Given the description of an element on the screen output the (x, y) to click on. 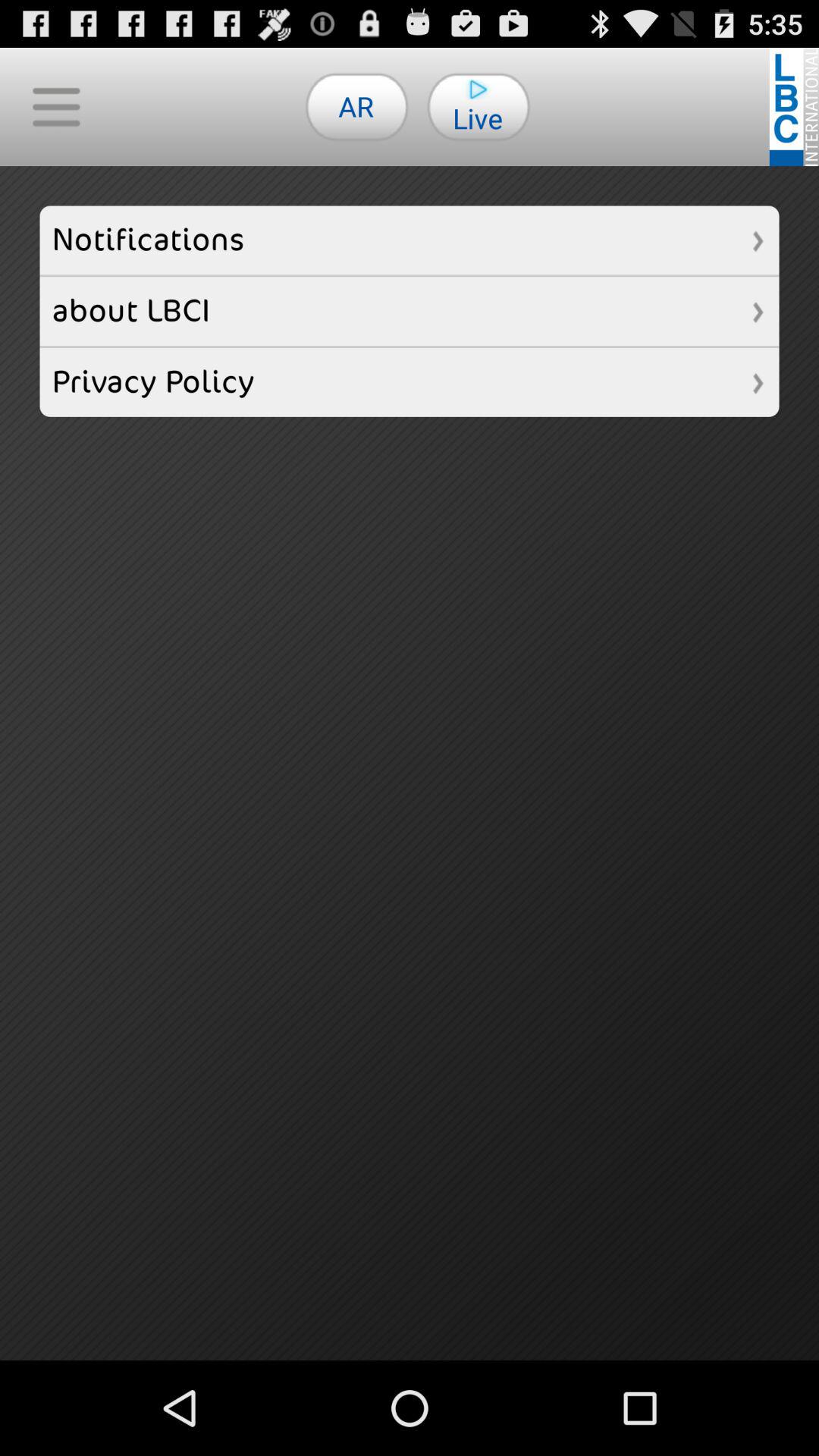
tap the ar (356, 106)
